Given the description of an element on the screen output the (x, y) to click on. 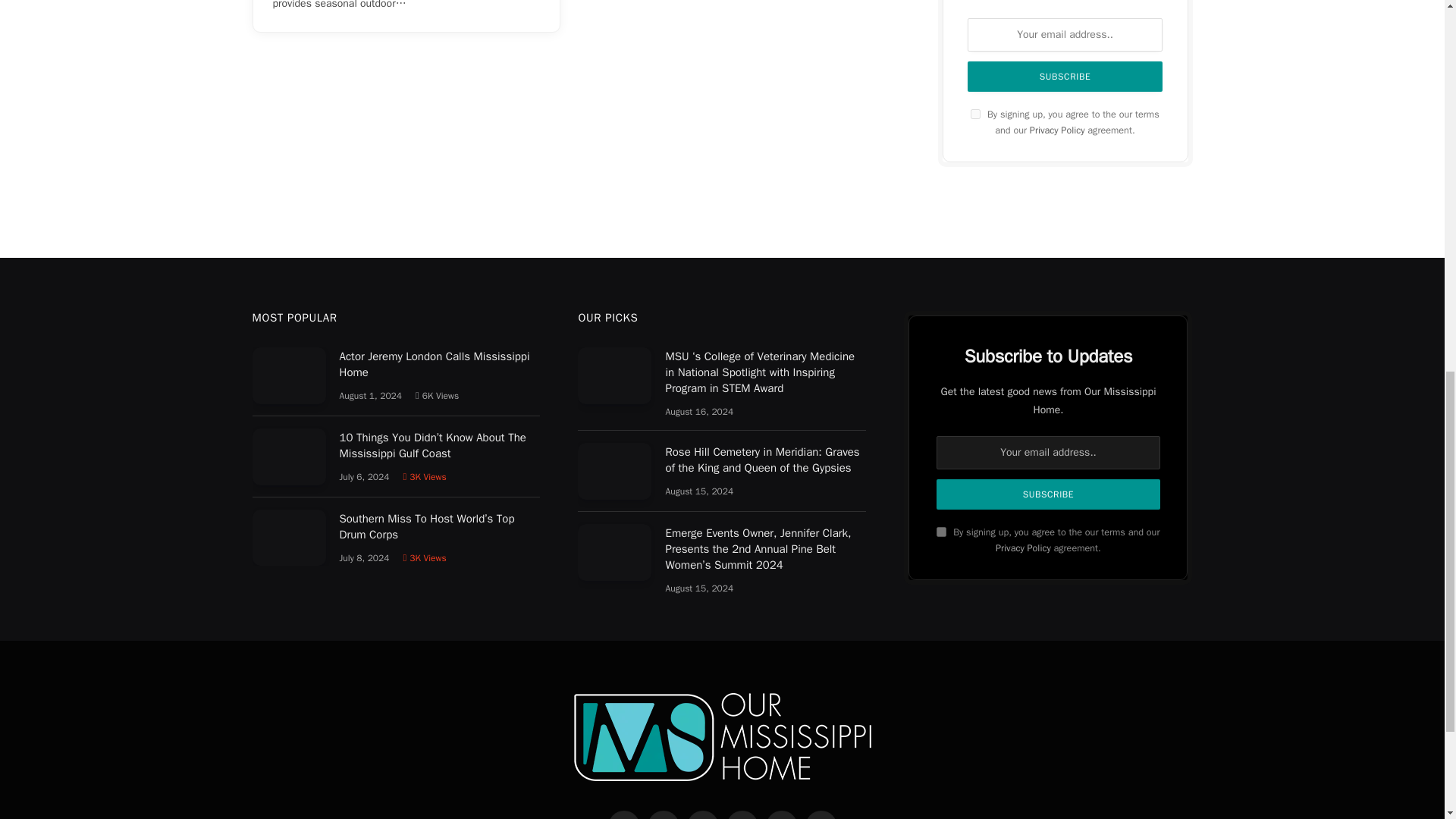
Subscribe (1047, 494)
on (975, 113)
on (941, 532)
Subscribe (1064, 76)
